Given the description of an element on the screen output the (x, y) to click on. 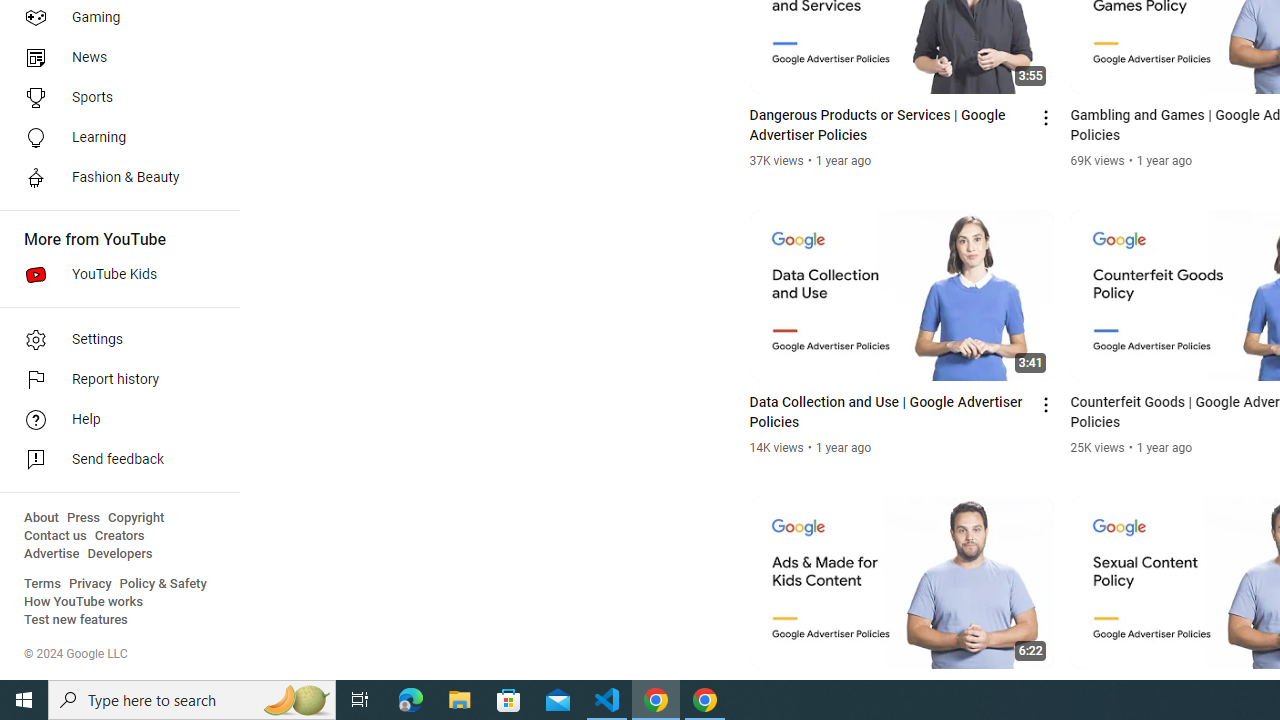
Send feedback (113, 459)
Developers (120, 554)
How YouTube works (83, 602)
Policy & Safety (163, 584)
Advertise (51, 554)
Copyright (136, 518)
Contact us (55, 536)
Test new features (76, 620)
News (113, 57)
Press (83, 518)
